Given the description of an element on the screen output the (x, y) to click on. 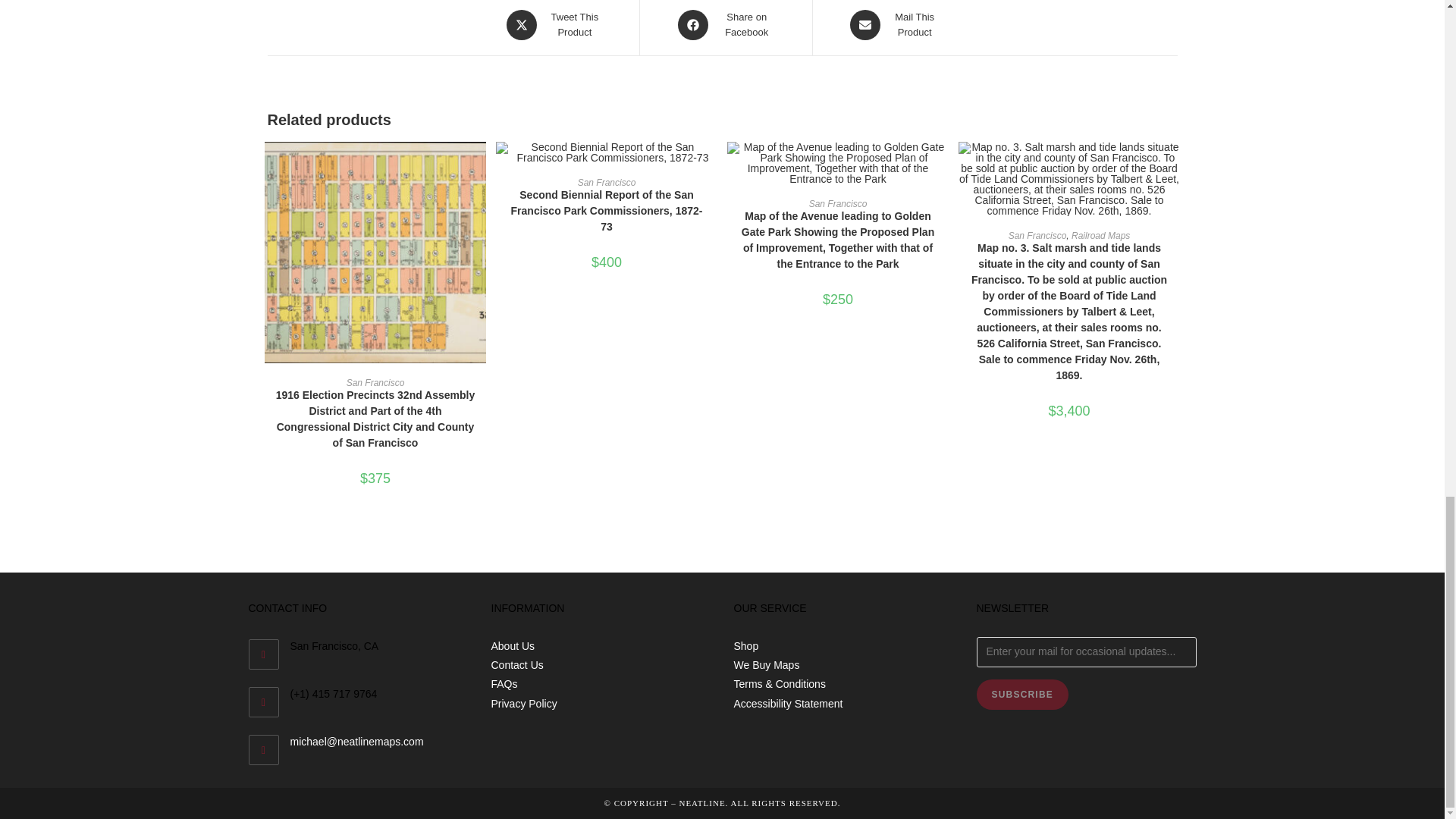
Subscribe (554, 24)
San Francisco (725, 24)
